Given the description of an element on the screen output the (x, y) to click on. 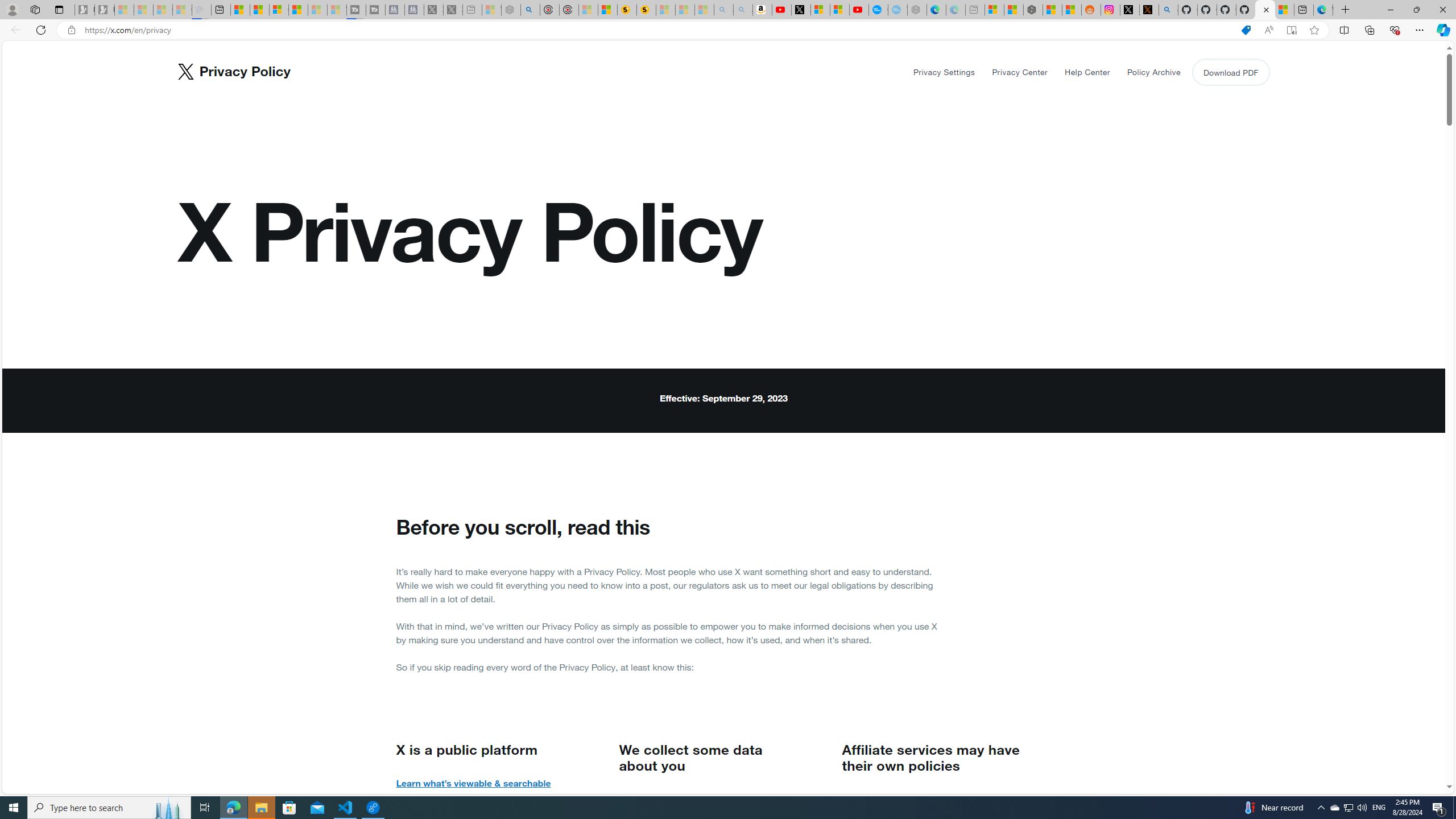
poe - Search (529, 9)
Shopping in Microsoft Edge (1245, 29)
help.x.com | 524: A timeout occurred (1148, 9)
Nordace - Nordace has arrived Hong Kong - Sleeping (916, 9)
